Given the description of an element on the screen output the (x, y) to click on. 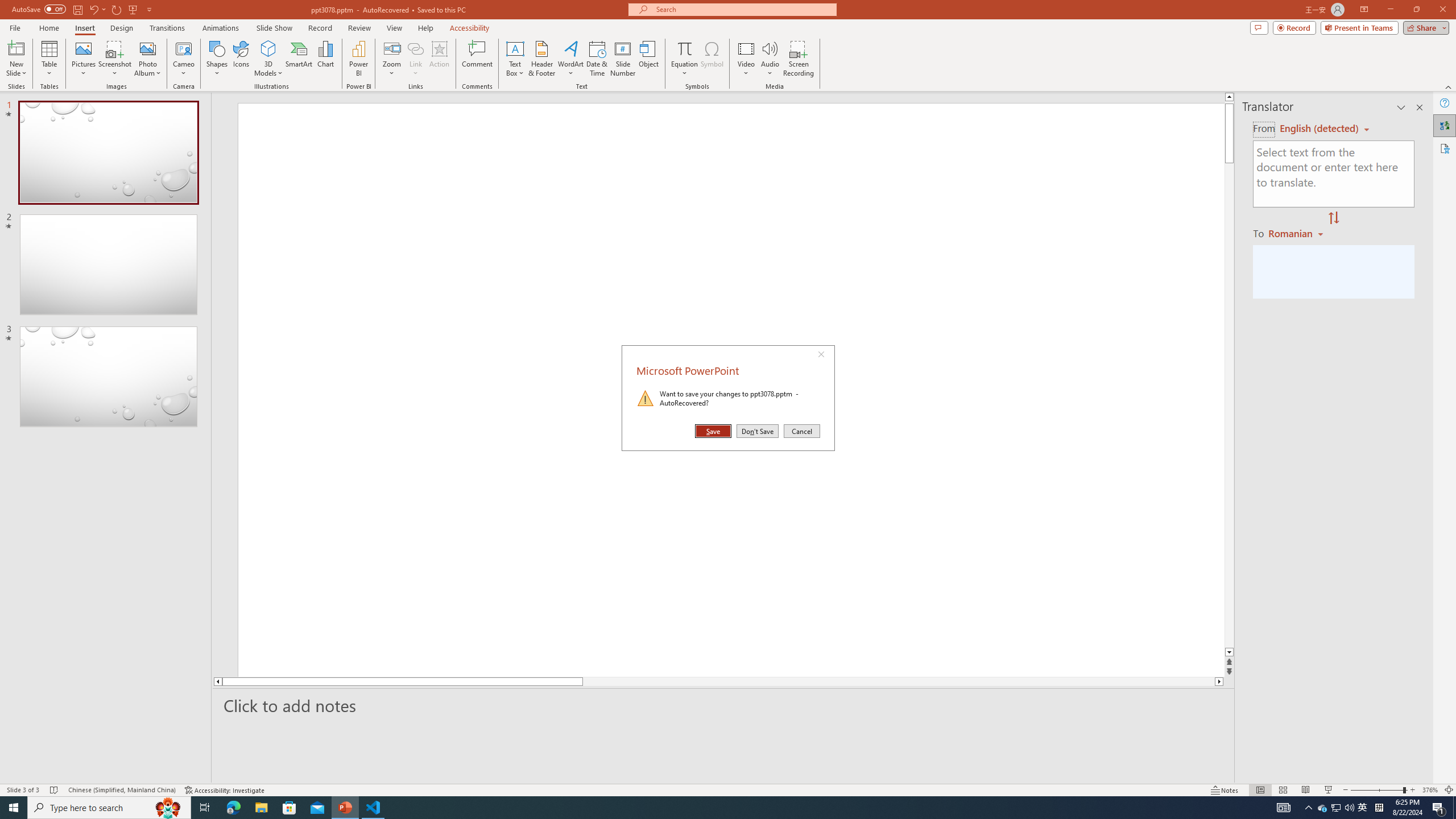
Symbol... (711, 58)
Screenshot (114, 58)
New Photo Album... (147, 48)
Action Center, 1 new notification (1439, 807)
